Given the description of an element on the screen output the (x, y) to click on. 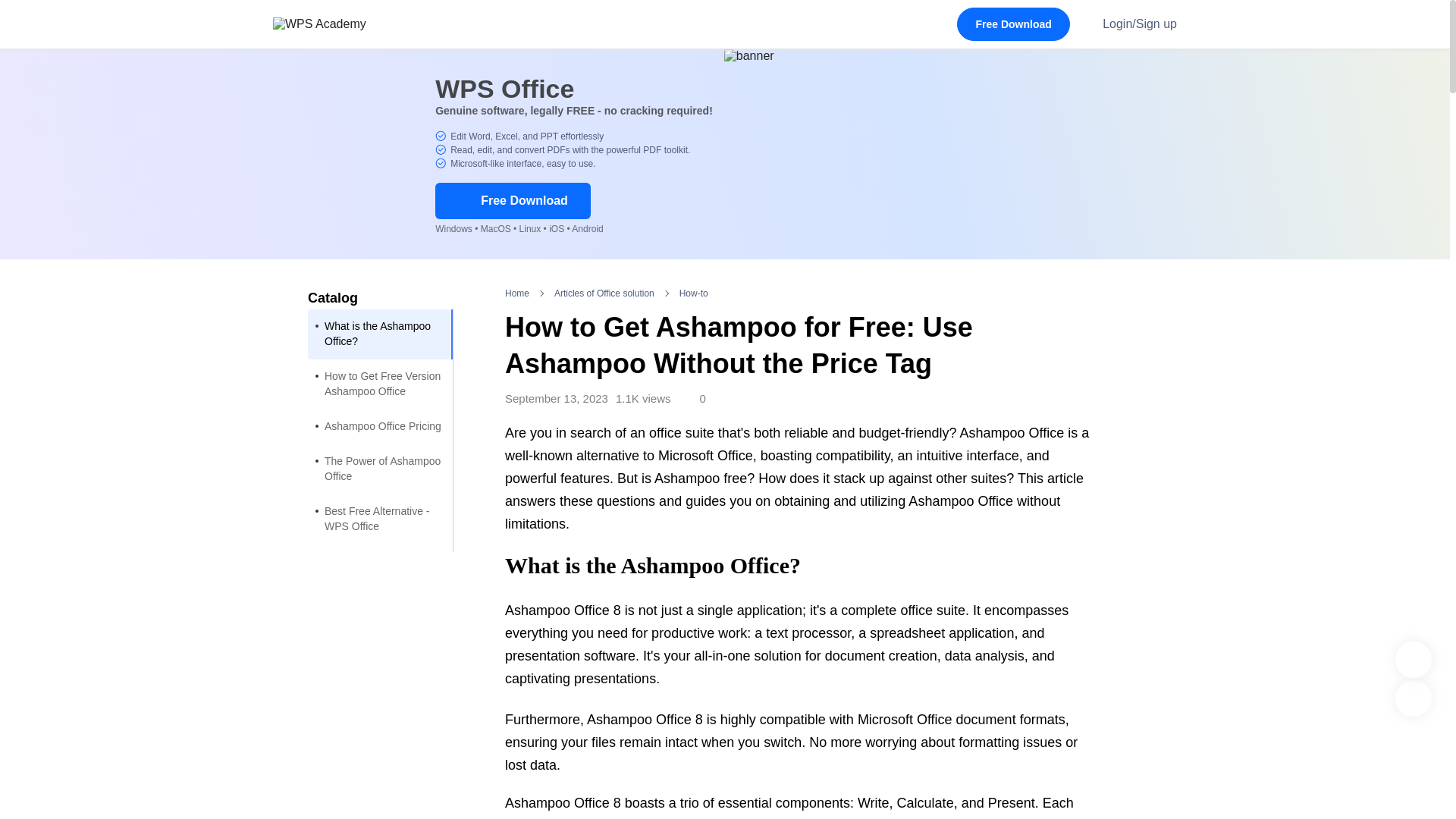
What is the Ashampoo Office? (379, 334)
Ashampoo Office Pricing (379, 426)
How to Get Free Version Ashampoo Office (379, 384)
Summary (379, 596)
Articles of Office solution (603, 293)
FAQs (379, 561)
The Power of Ashampoo Office (379, 469)
How-to (693, 293)
Best Free Alternative - WPS Office (379, 519)
Home (517, 293)
